Given the description of an element on the screen output the (x, y) to click on. 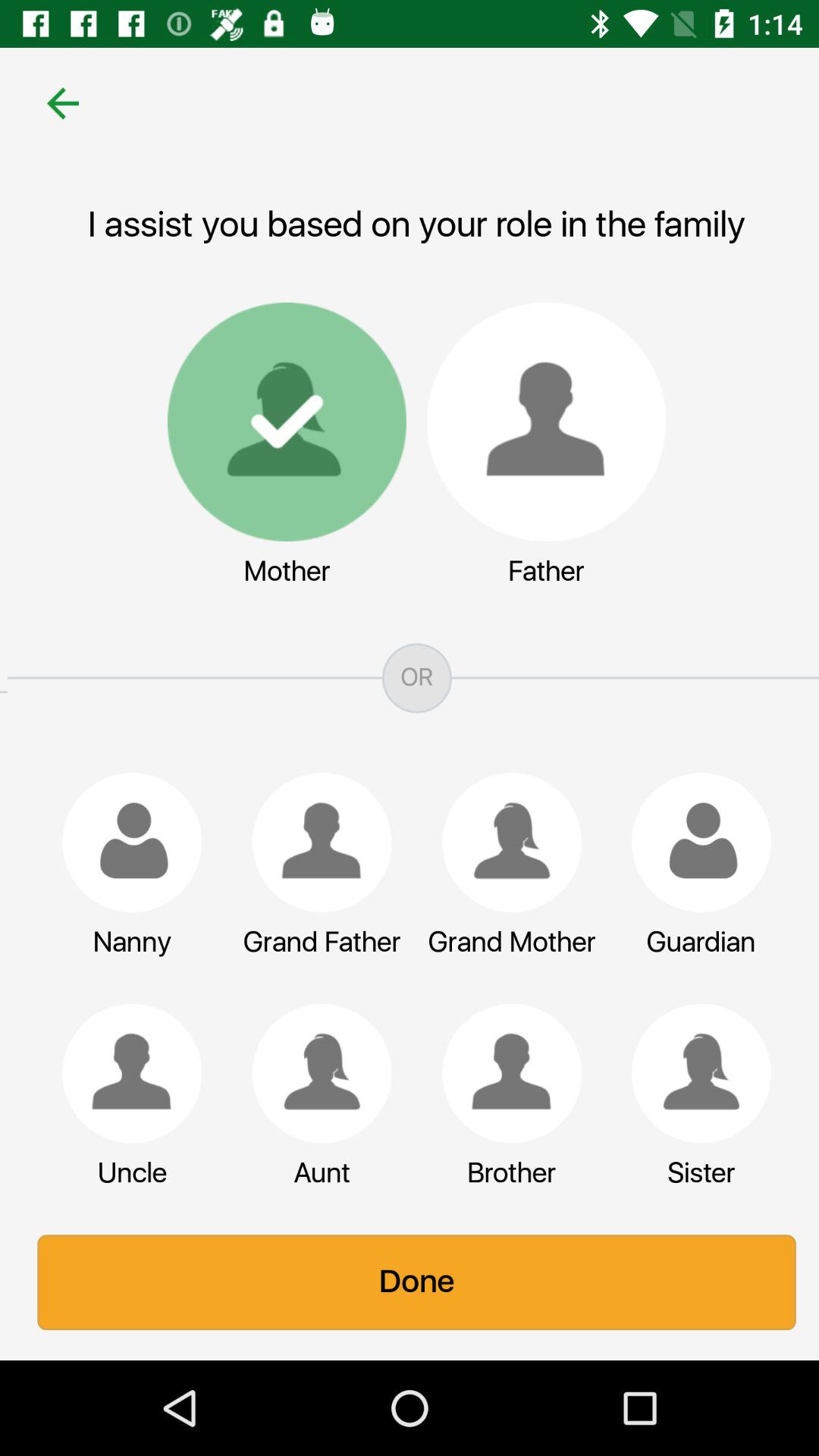
switch to father (538, 421)
